Given the description of an element on the screen output the (x, y) to click on. 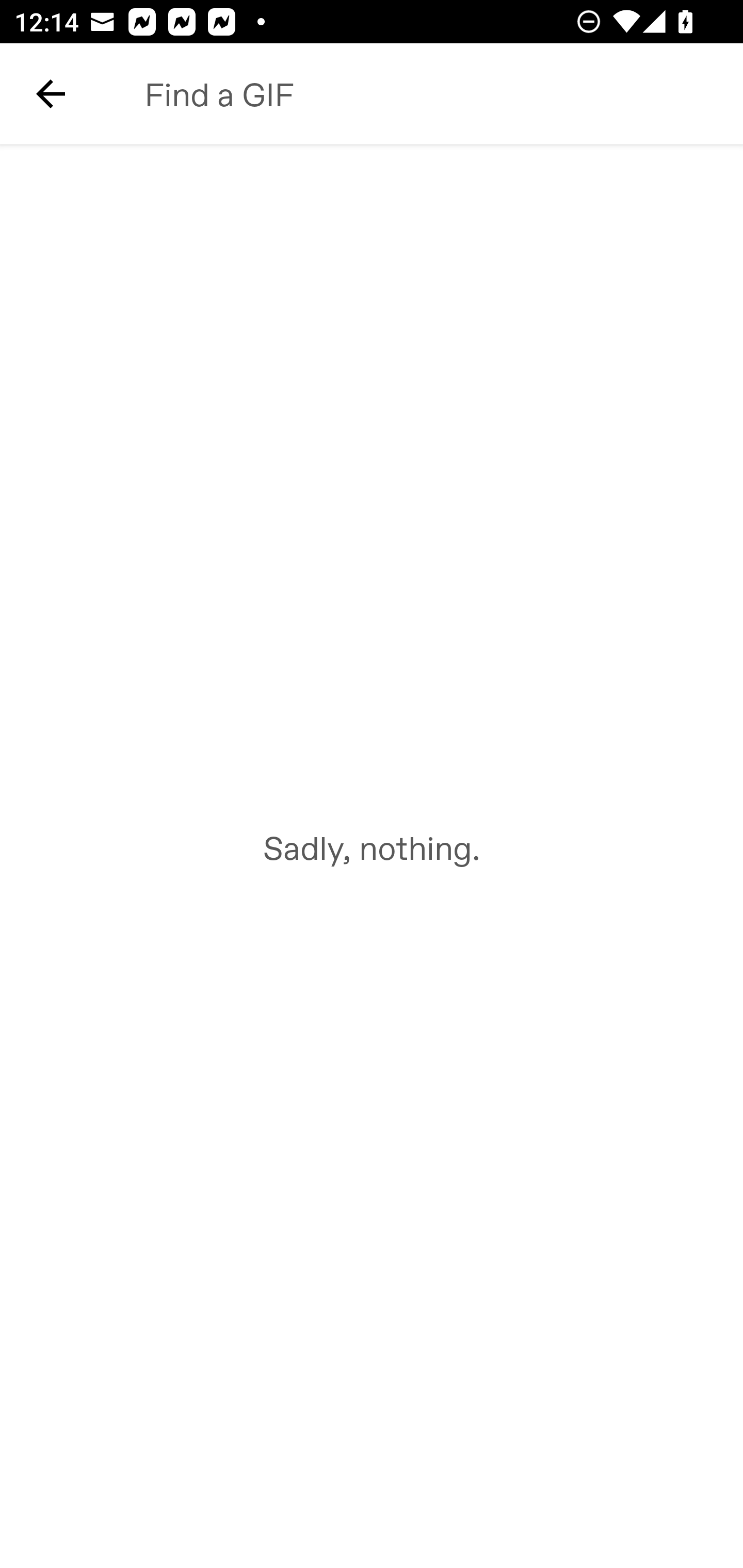
Navigate up (50, 93)
Find a GIF (422, 93)
